Given the description of an element on the screen output the (x, y) to click on. 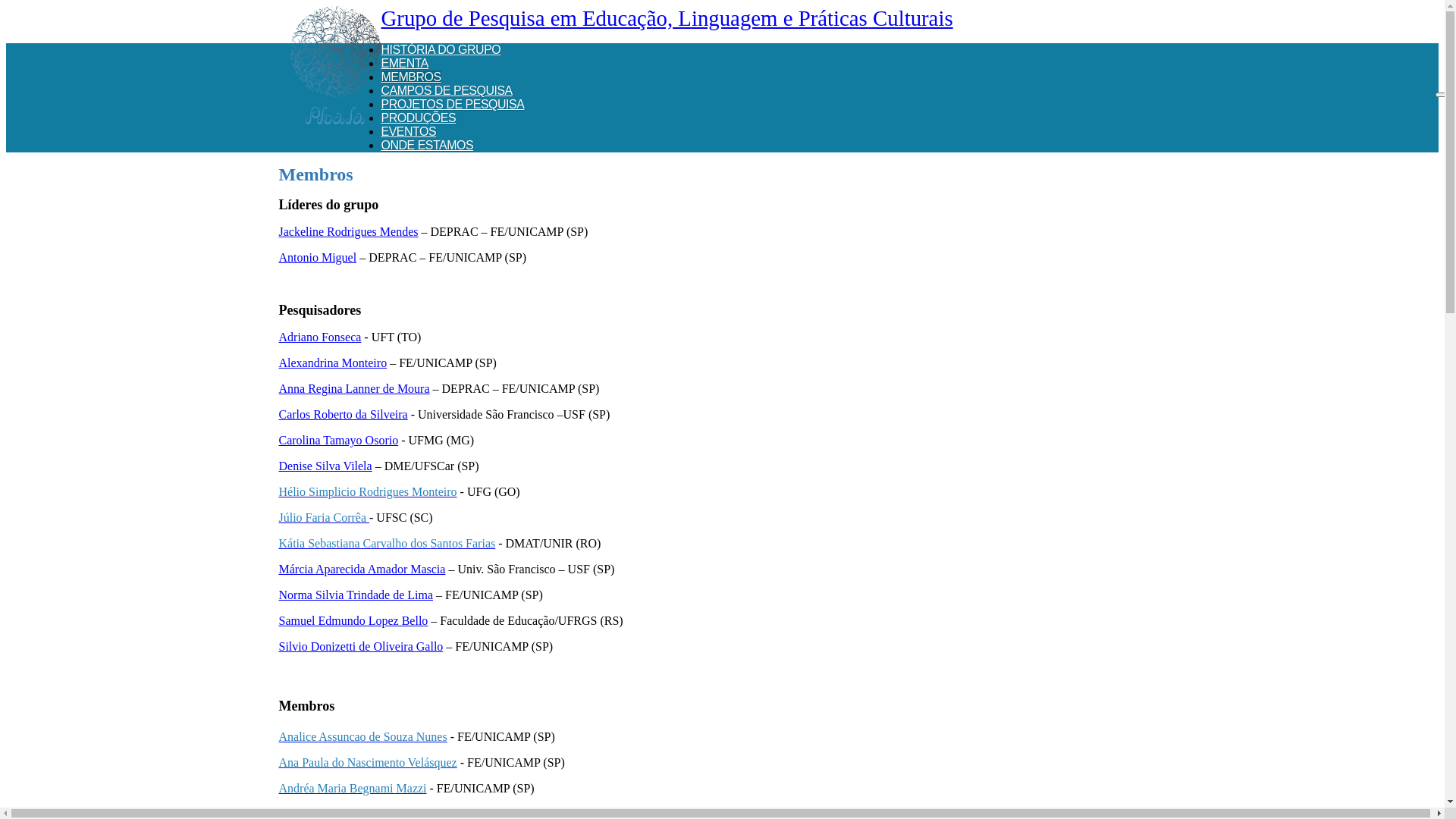
Carlos Roberto da Silveira Element type: text (343, 413)
Alexandrina Monteiro Element type: text (333, 362)
Samuel Edmundo Lopez Bello Element type: text (353, 620)
Entrar Element type: text (1150, 183)
Norma Silvia Trindade de Lima Element type: text (356, 594)
Carolina Tamayo Osorio Element type: text (338, 439)
Anna Regina Lanner de Moura Element type: text (354, 388)
PROJETOS DE PESQUISA Element type: text (452, 103)
Adriano Fonseca Element type: text (320, 336)
MEMBROS Element type: text (410, 76)
EMENTA Element type: text (403, 62)
CAMPOS DE PESQUISA Element type: text (445, 90)
Analice Assuncao de Souza Nunes Element type: text (363, 736)
Silvio Donizetti de Oliveira Gallo Element type: text (361, 646)
Jackeline Rodrigues Mendes Element type: text (348, 231)
Denise Silva Vilela Element type: text (325, 465)
Toggle navigation Element type: text (1441, 94)
Antonio Miguel Element type: text (318, 257)
ONDE ESTAMOS Element type: text (426, 144)
EVENTOS Element type: text (408, 131)
